Given the description of an element on the screen output the (x, y) to click on. 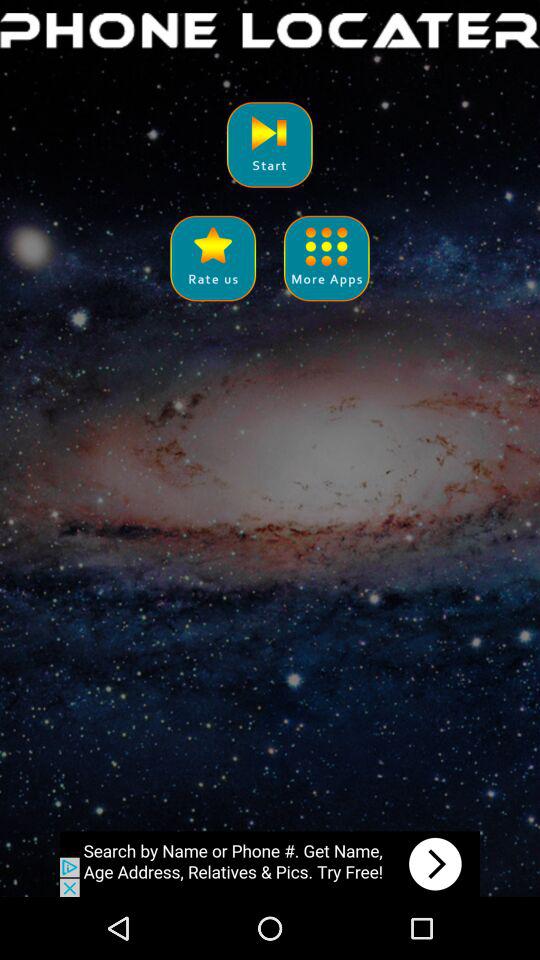
information about apps developed by the same company (326, 258)
